Given the description of an element on the screen output the (x, y) to click on. 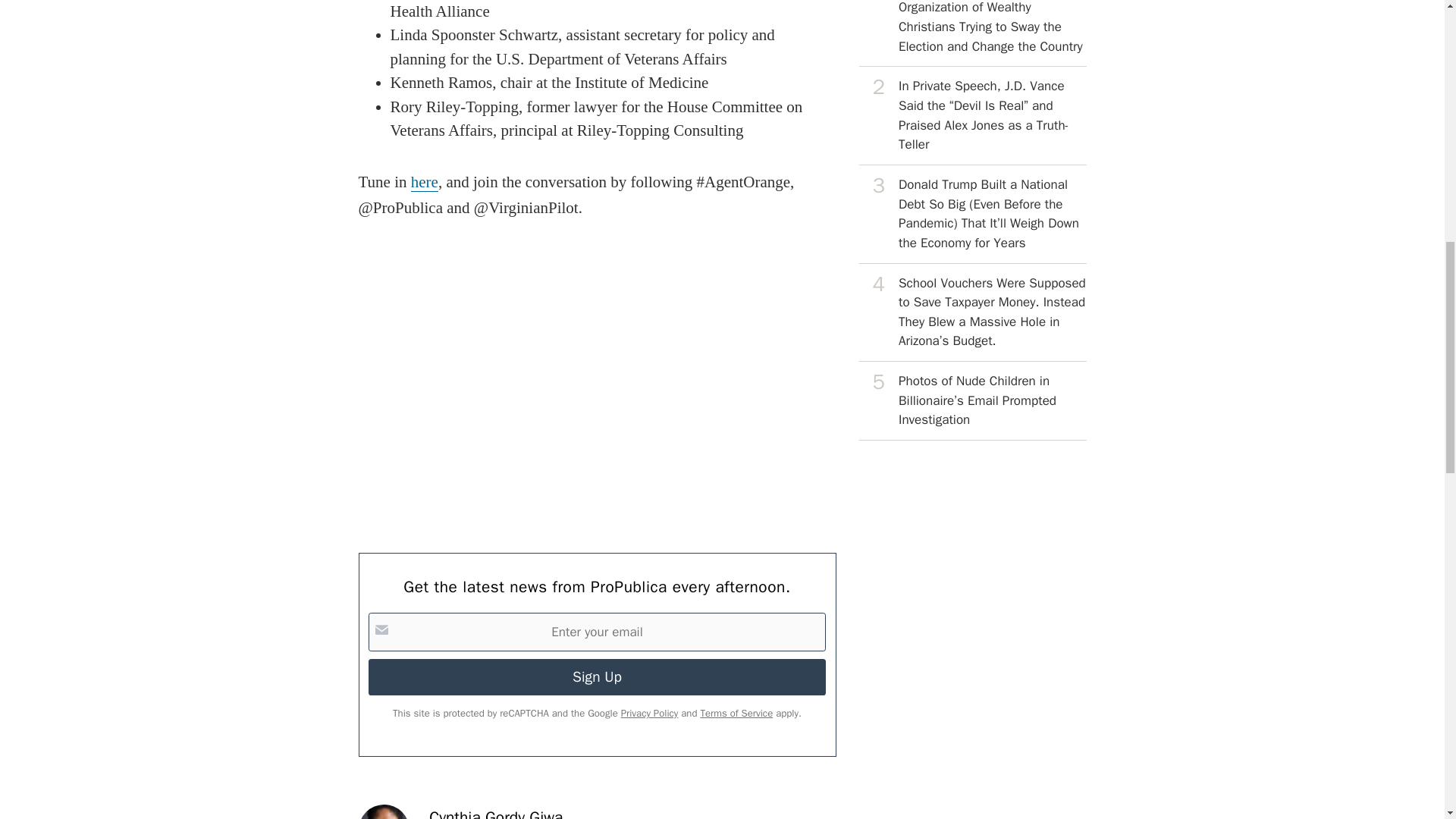
Sign Up (596, 677)
Privacy Policy (649, 712)
Terms of Service (736, 712)
Sign Up (596, 677)
here (424, 181)
View this (972, 214)
View this (972, 400)
Cynthia Gordy Giwa (495, 813)
View this (972, 33)
View this (972, 312)
